Given the description of an element on the screen output the (x, y) to click on. 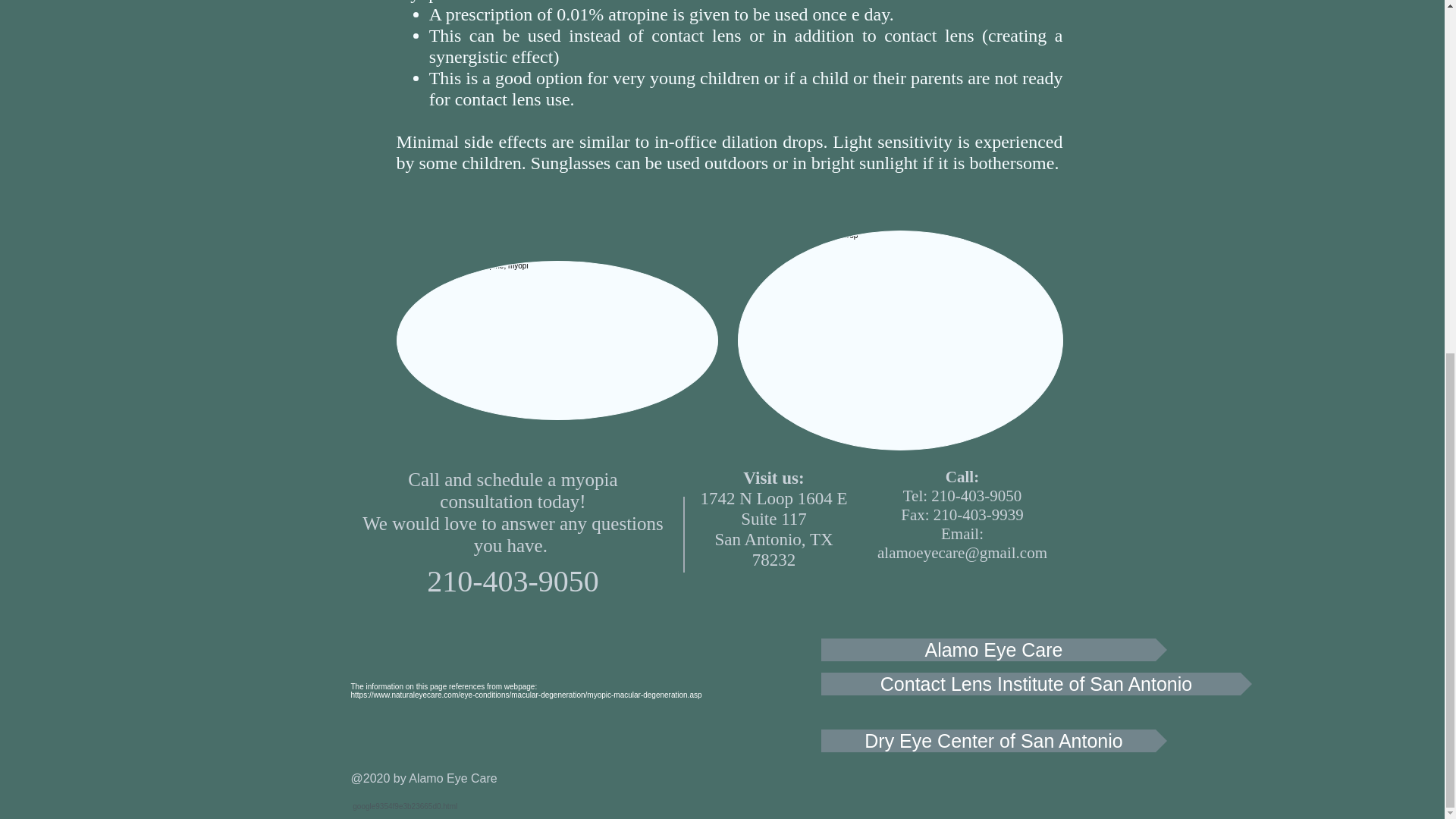
Alamo Eye Care (993, 649)
Contact Lens Institute of San Antonio (1035, 683)
Dry Eye Center of San Antonio (993, 740)
